Given the description of an element on the screen output the (x, y) to click on. 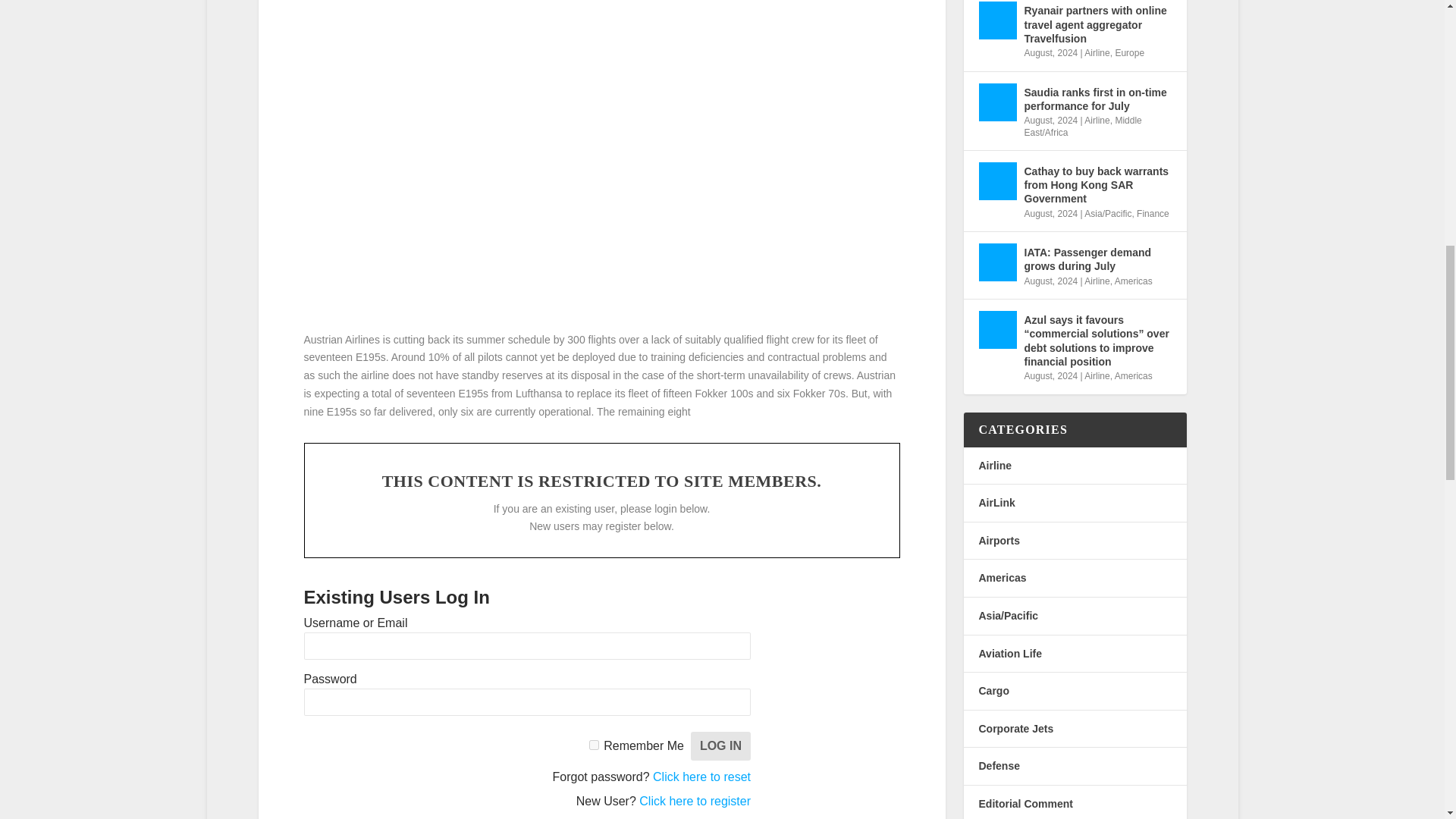
Log In (720, 746)
Saudia ranks first in on-time performance for July (997, 102)
forever (593, 745)
Cathay to buy back warrants from Hong Kong SAR Government (997, 180)
